Given the description of an element on the screen output the (x, y) to click on. 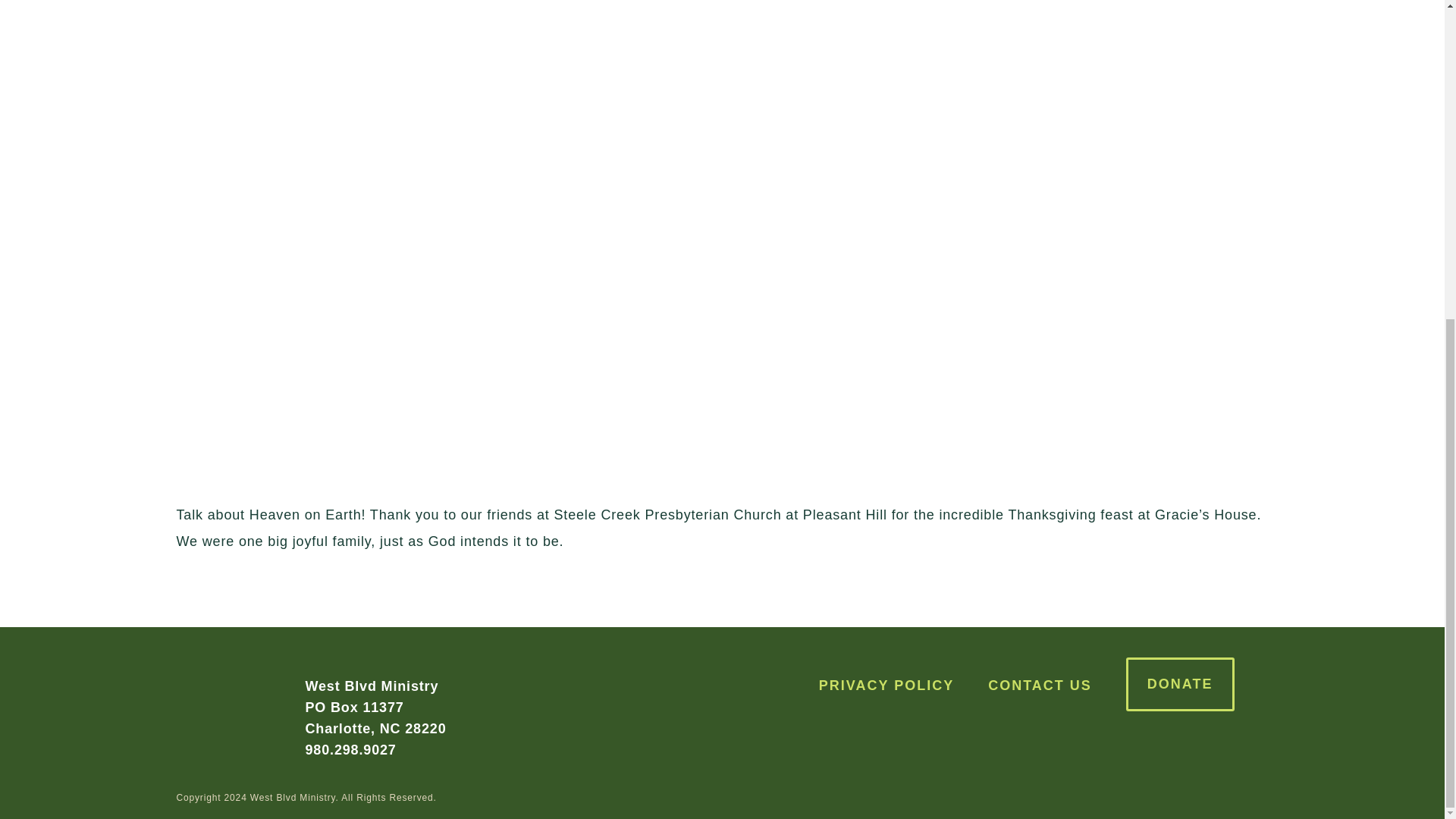
DONATE (1179, 684)
980.298.9027 (350, 749)
PRIVACY POLICY (885, 685)
CONTACT US (1040, 685)
